Given the description of an element on the screen output the (x, y) to click on. 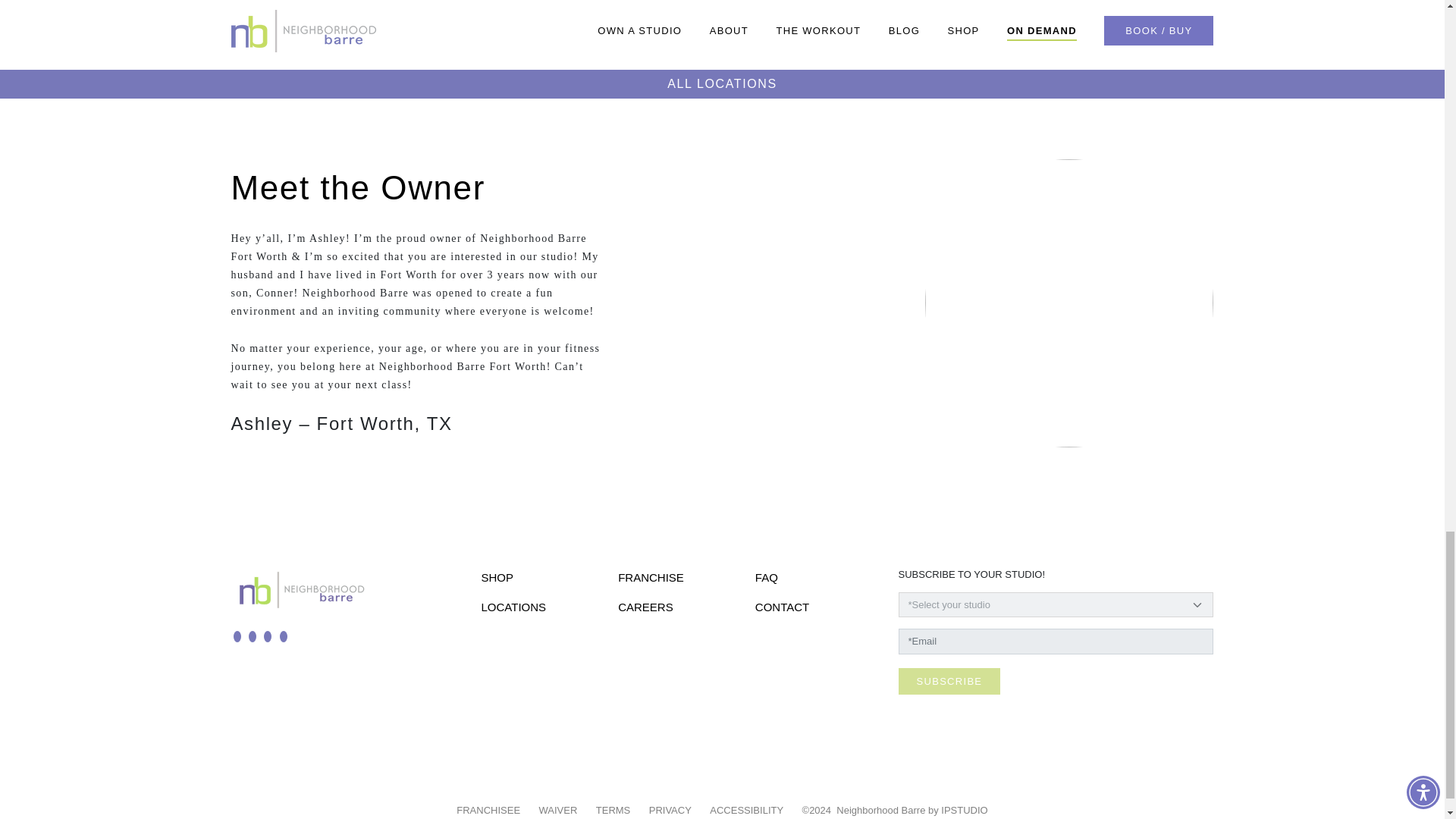
SHOP (496, 576)
LOCATIONS (513, 606)
